Given the description of an element on the screen output the (x, y) to click on. 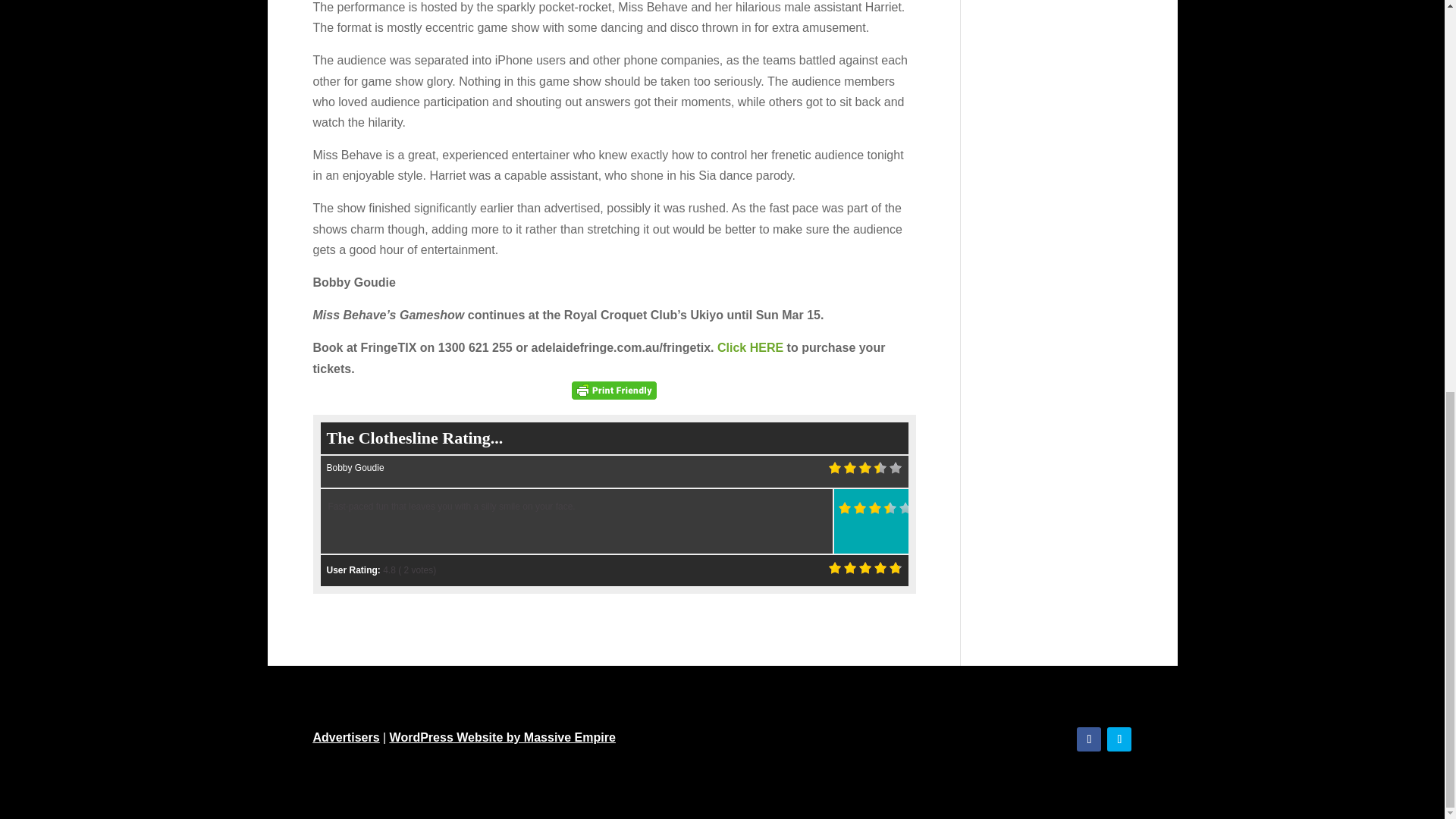
Follow on Facebook (1088, 739)
Follow on Twitter (1118, 739)
Miss Behave's Gameshow (750, 347)
